Given the description of an element on the screen output the (x, y) to click on. 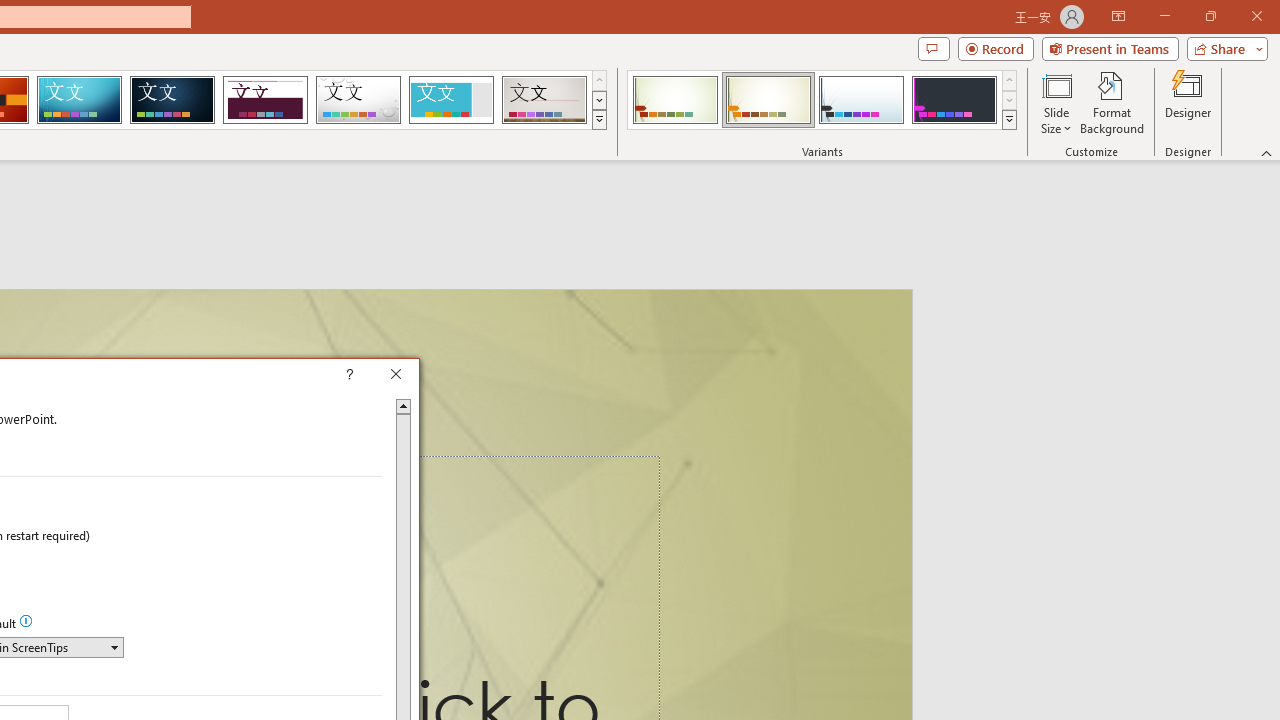
Wisp Variant 2 (768, 100)
Themes (598, 120)
